Given the description of an element on the screen output the (x, y) to click on. 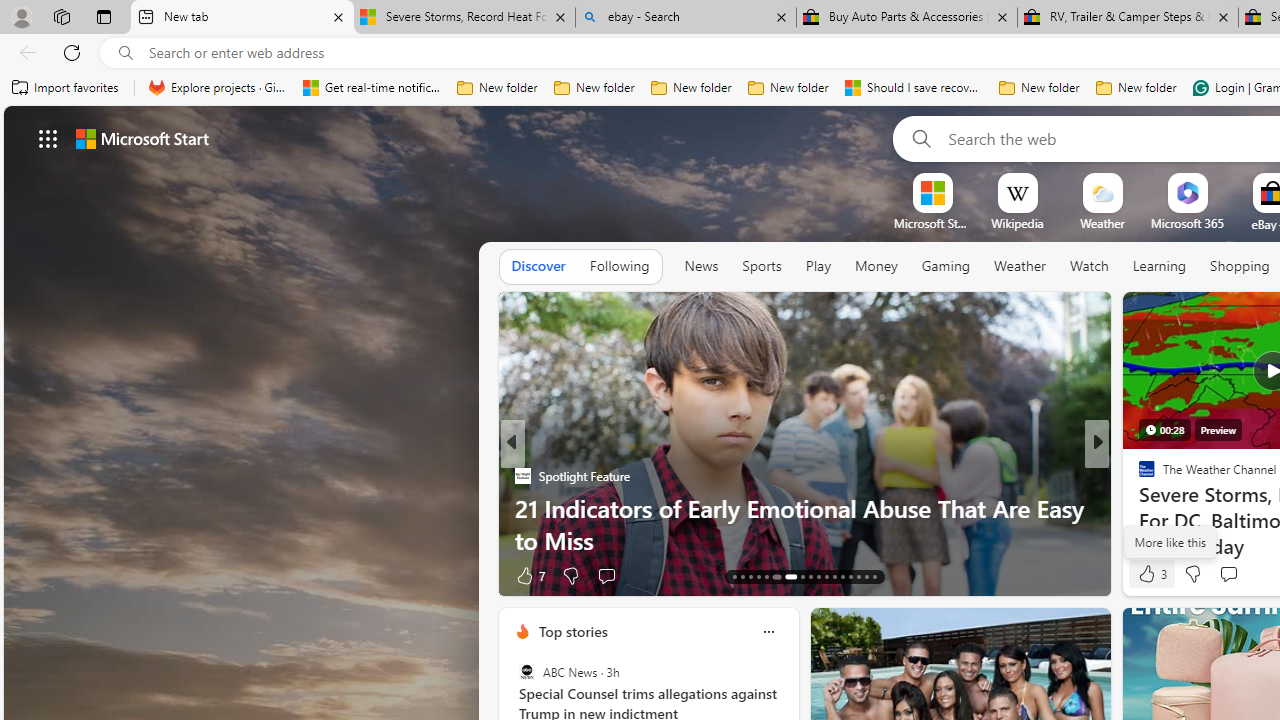
AutomationID: tab-22 (818, 576)
Dailymotion (1138, 507)
Shopping (1240, 265)
AutomationID: tab-19 (788, 576)
View comments 96 Comment (11, 575)
AutomationID: tab-14 (742, 576)
